Given the description of an element on the screen output the (x, y) to click on. 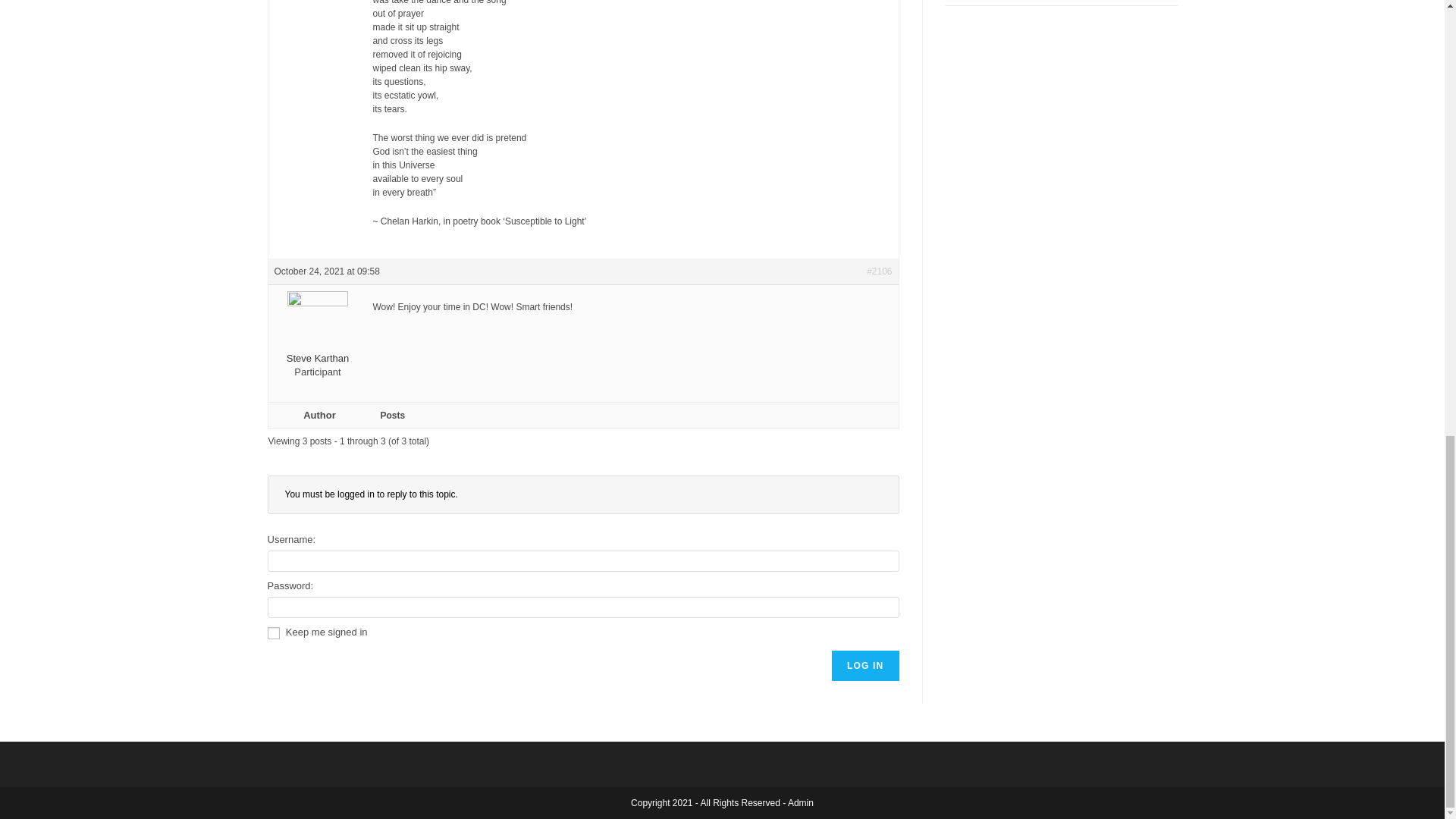
View Steve Karthan's profile (318, 340)
forever (272, 633)
Steve Karthan (318, 340)
LOG IN (865, 665)
